Given the description of an element on the screen output the (x, y) to click on. 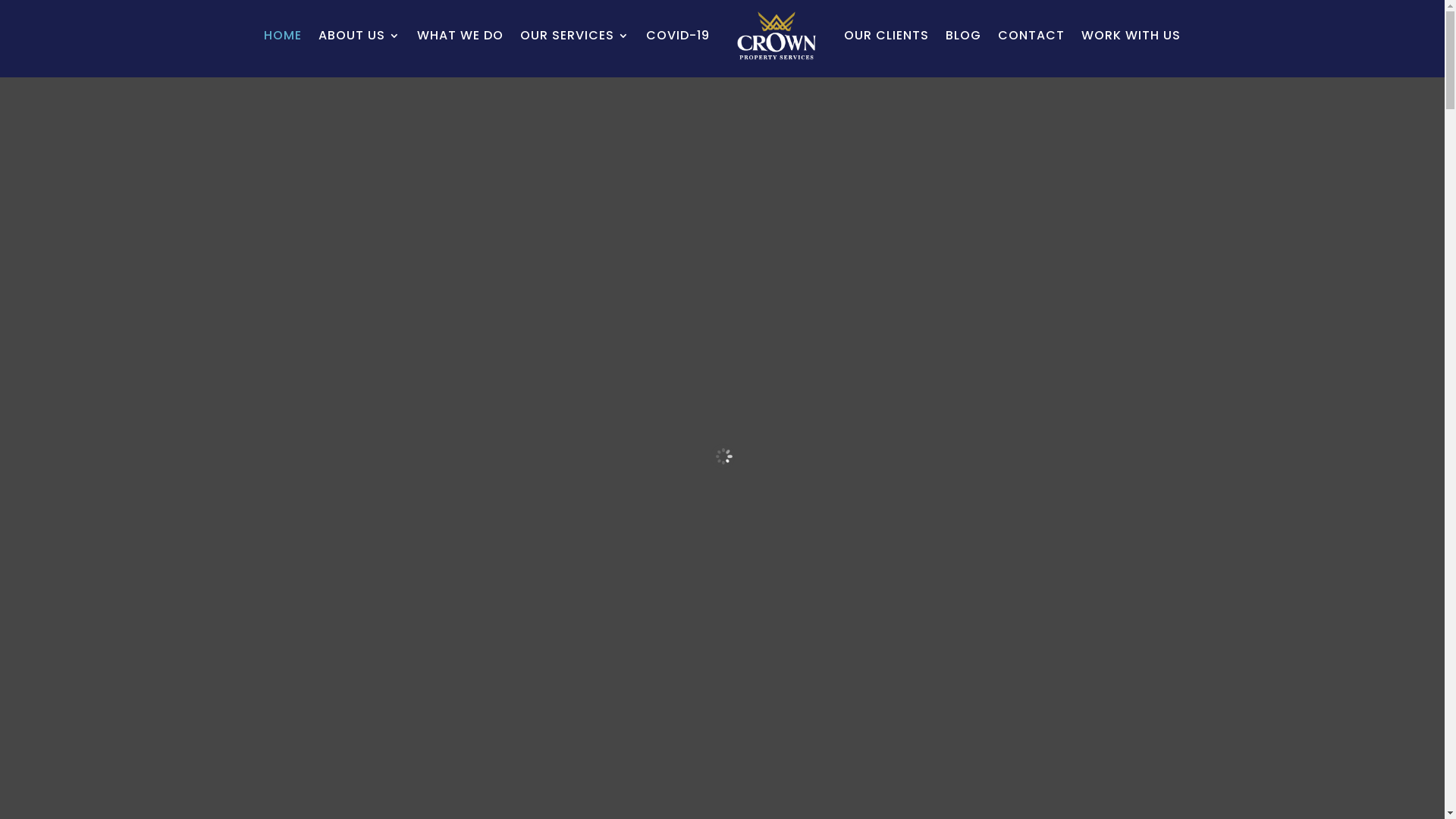
CONTACT Element type: text (1030, 35)
ABOUT US Element type: text (359, 35)
BLOG Element type: text (963, 35)
OUR SERVICES Element type: text (574, 35)
WORK WITH US Element type: text (1130, 35)
COVID-19 Element type: text (677, 35)
HOME Element type: text (282, 35)
WHAT WE DO Element type: text (460, 35)
OUR CLIENTS Element type: text (886, 35)
